Given the description of an element on the screen output the (x, y) to click on. 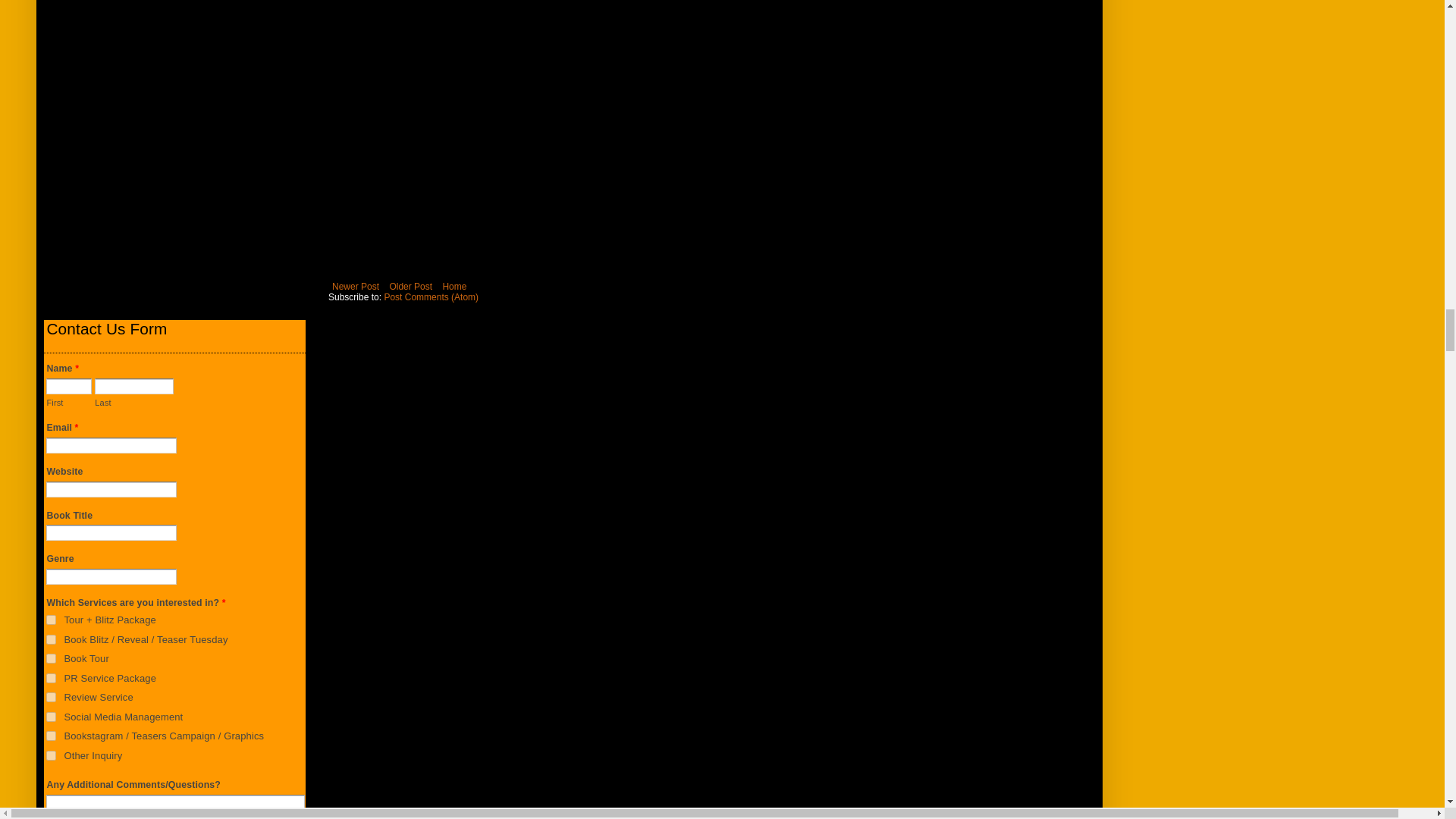
Older Post (410, 286)
Newer Post (355, 286)
